Given the description of an element on the screen output the (x, y) to click on. 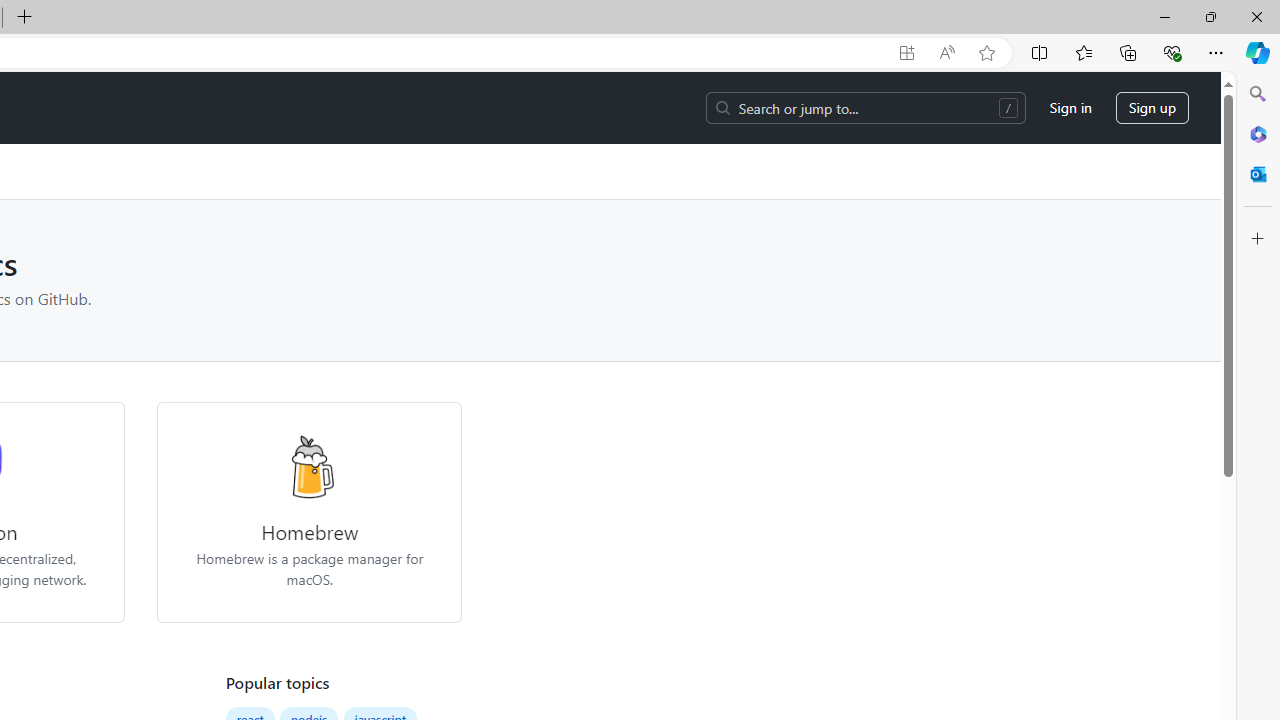
homebrew Homebrew Homebrew is a package manager for macOS. (309, 511)
Sign in (1070, 107)
App available. Install GitHub (906, 53)
